Given the description of an element on the screen output the (x, y) to click on. 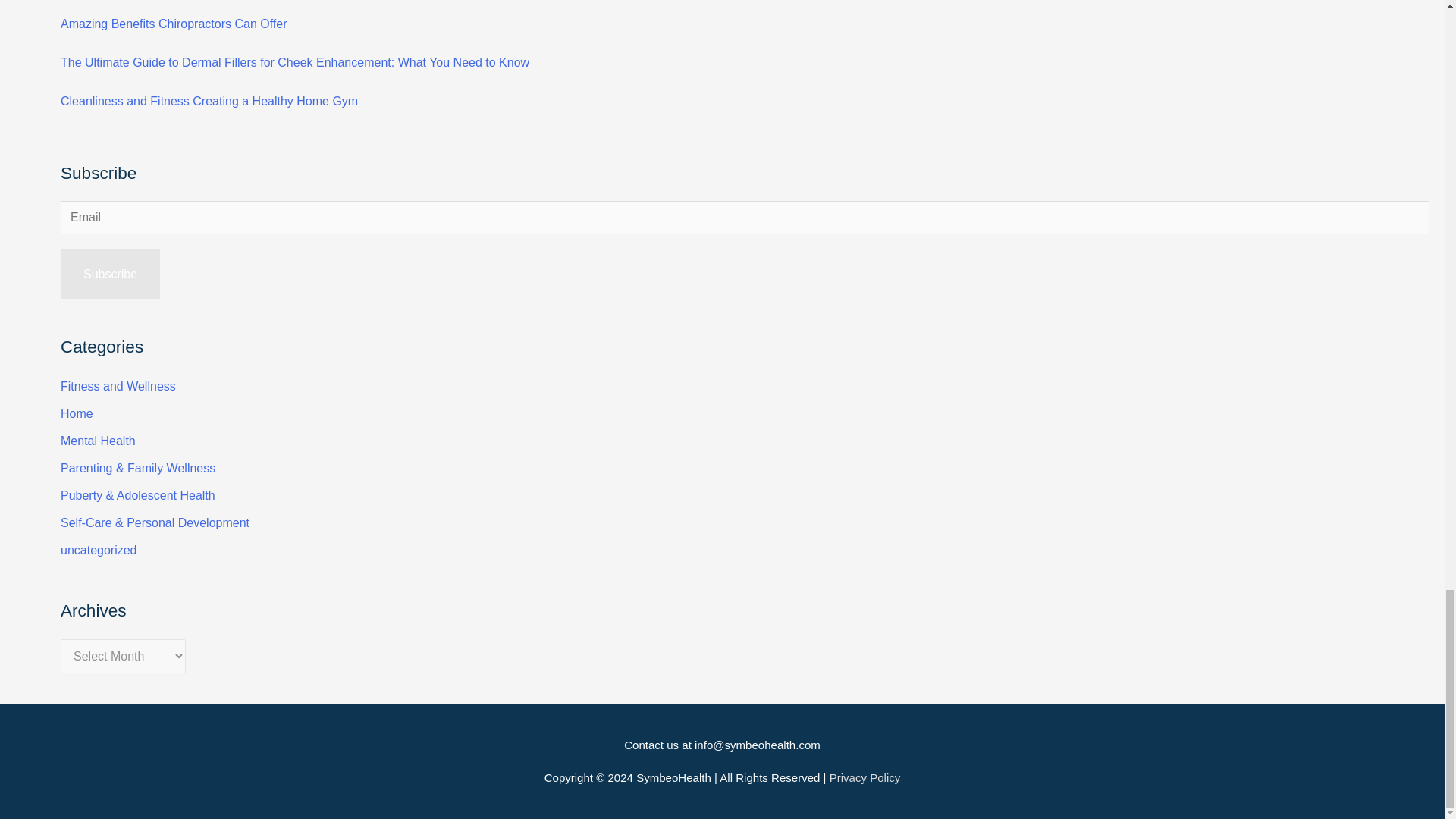
Cleanliness and Fitness Creating a Healthy Home Gym (209, 101)
Subscribe (110, 274)
Fitness and Wellness (118, 386)
Home (77, 413)
Amazing Benefits Chiropractors Can Offer (173, 23)
Subscribe (110, 274)
Mental Health (98, 440)
